Given the description of an element on the screen output the (x, y) to click on. 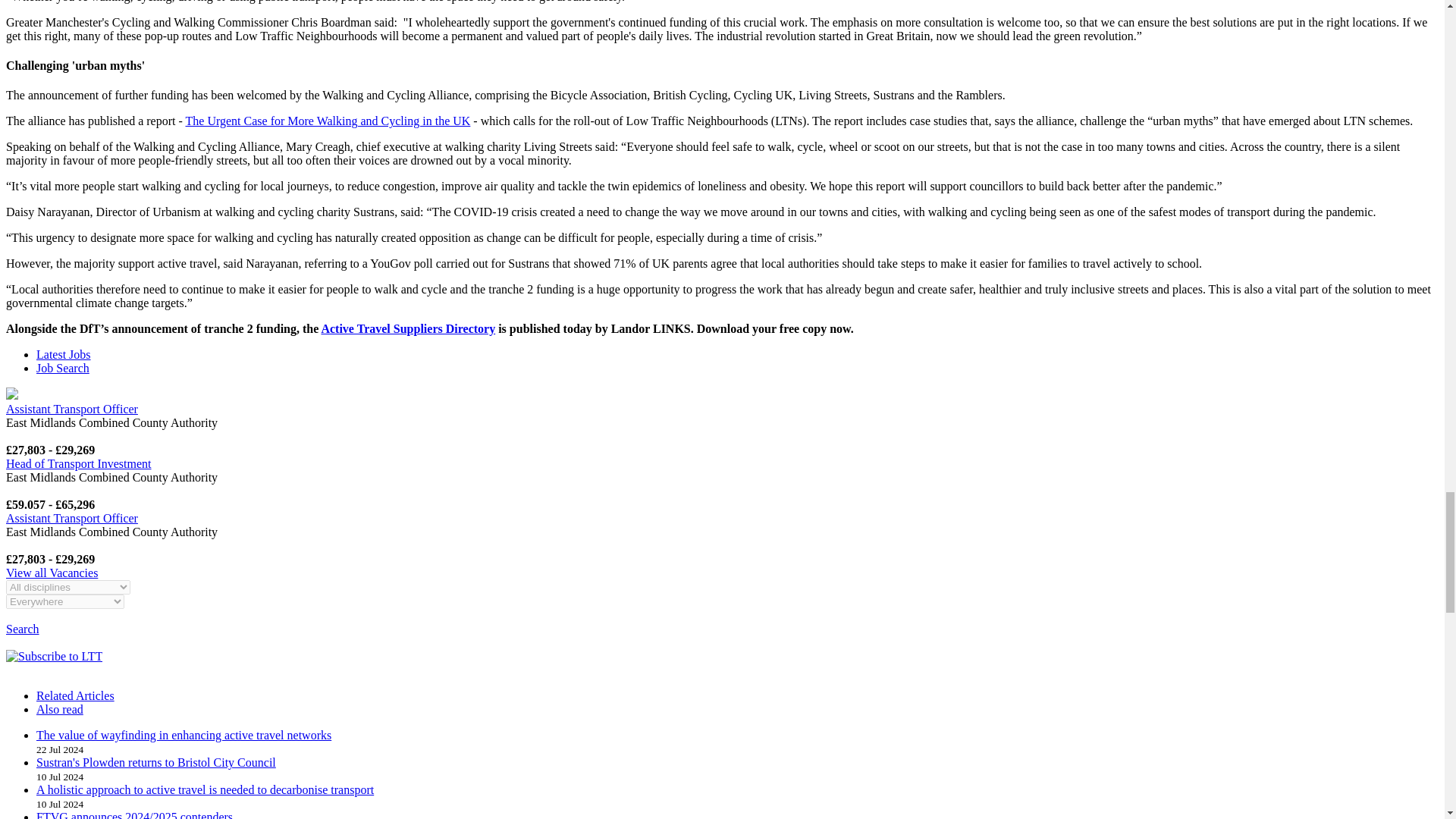
Subscribe to LTT (53, 656)
